Given the description of an element on the screen output the (x, y) to click on. 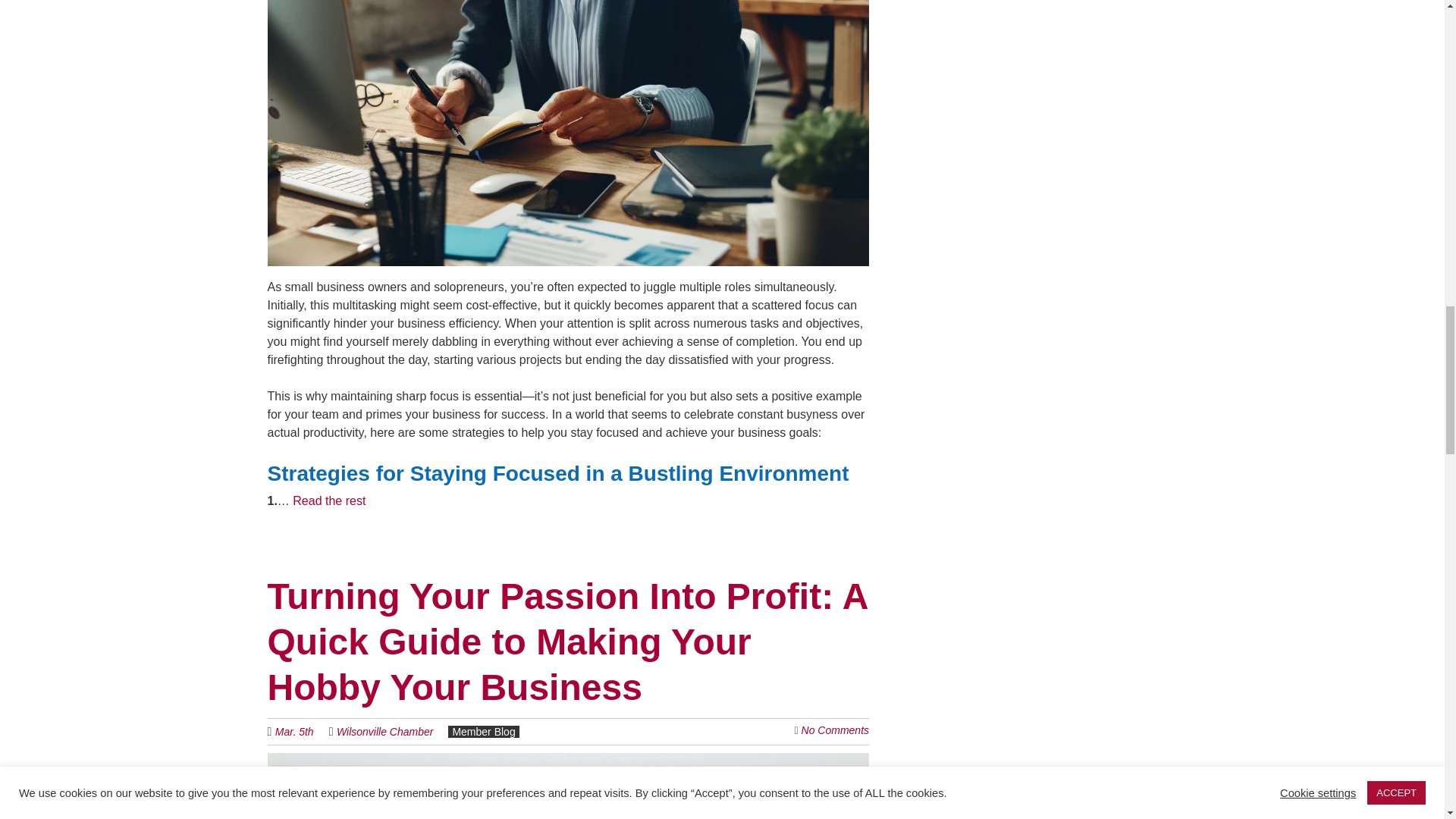
View all posts by Wilsonville Chamber (384, 731)
